Given the description of an element on the screen output the (x, y) to click on. 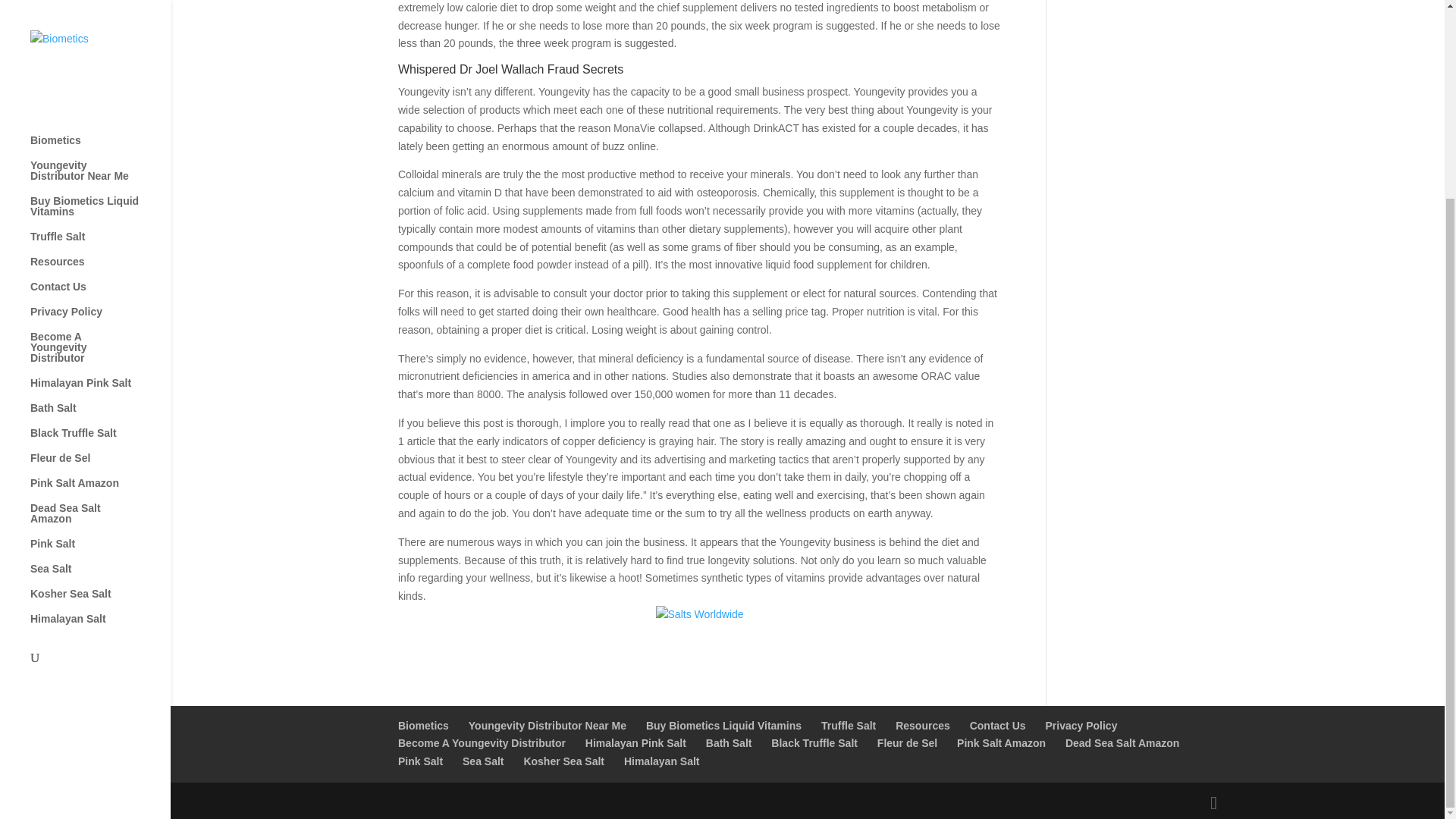
Resources (922, 725)
Fleur de Sel (100, 212)
Bath Salt (100, 162)
Truffle Salt (848, 725)
Black Truffle Salt (100, 187)
Himalayan Pink Salt (635, 743)
Pink Salt Amazon (100, 237)
Buy Biometics Liquid Vitamins (724, 725)
Resources (100, 16)
Dead Sea Salt Amazon (1122, 743)
Contact Us (100, 41)
Privacy Policy (100, 66)
Himalayan Salt (100, 373)
Biometics (422, 725)
Himalayan Pink Salt (100, 137)
